Given the description of an element on the screen output the (x, y) to click on. 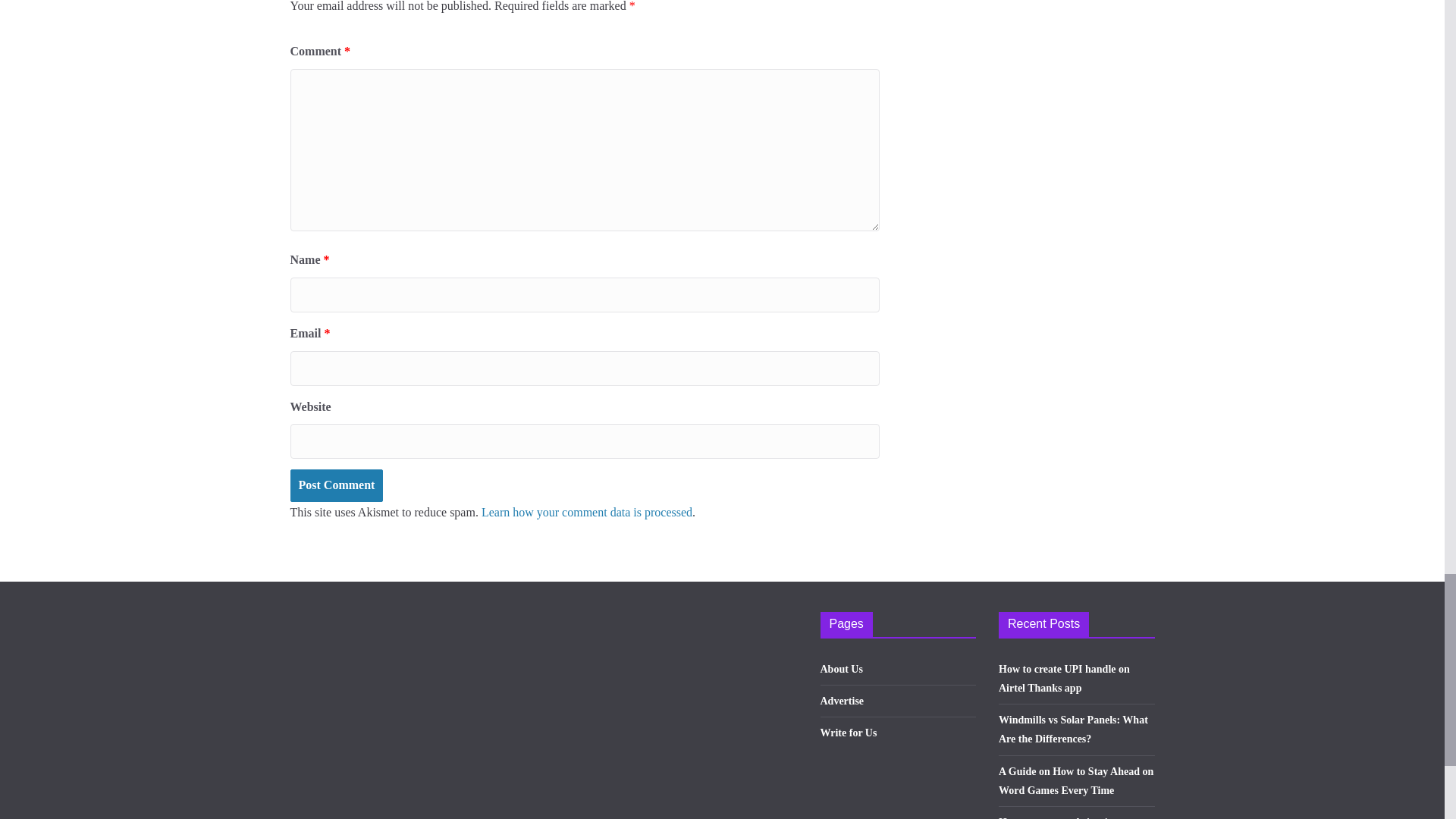
Learn how your comment data is processed (587, 512)
Post Comment (335, 485)
Post Comment (335, 485)
